Given the description of an element on the screen output the (x, y) to click on. 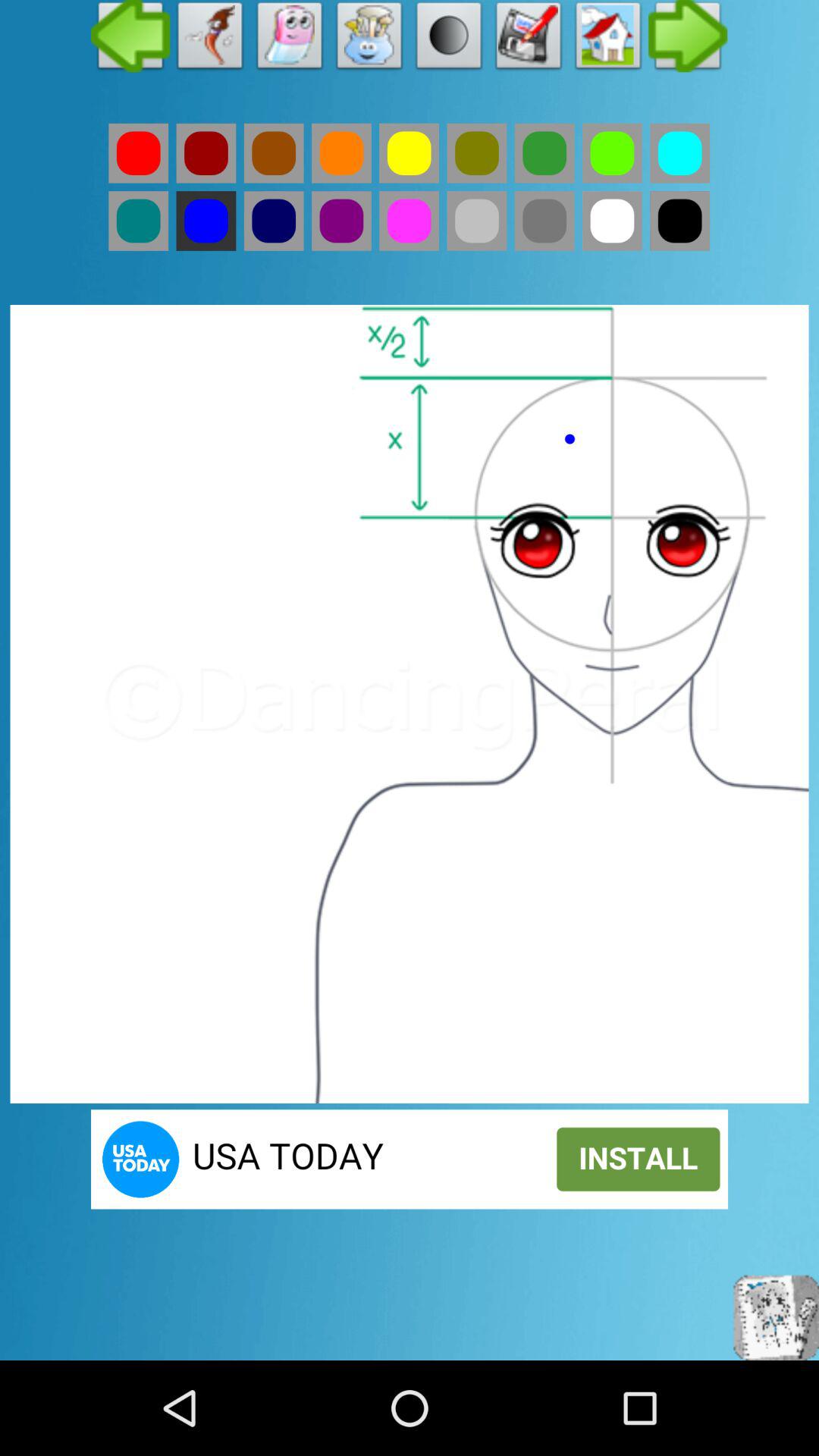
see more options (688, 39)
